Given the description of an element on the screen output the (x, y) to click on. 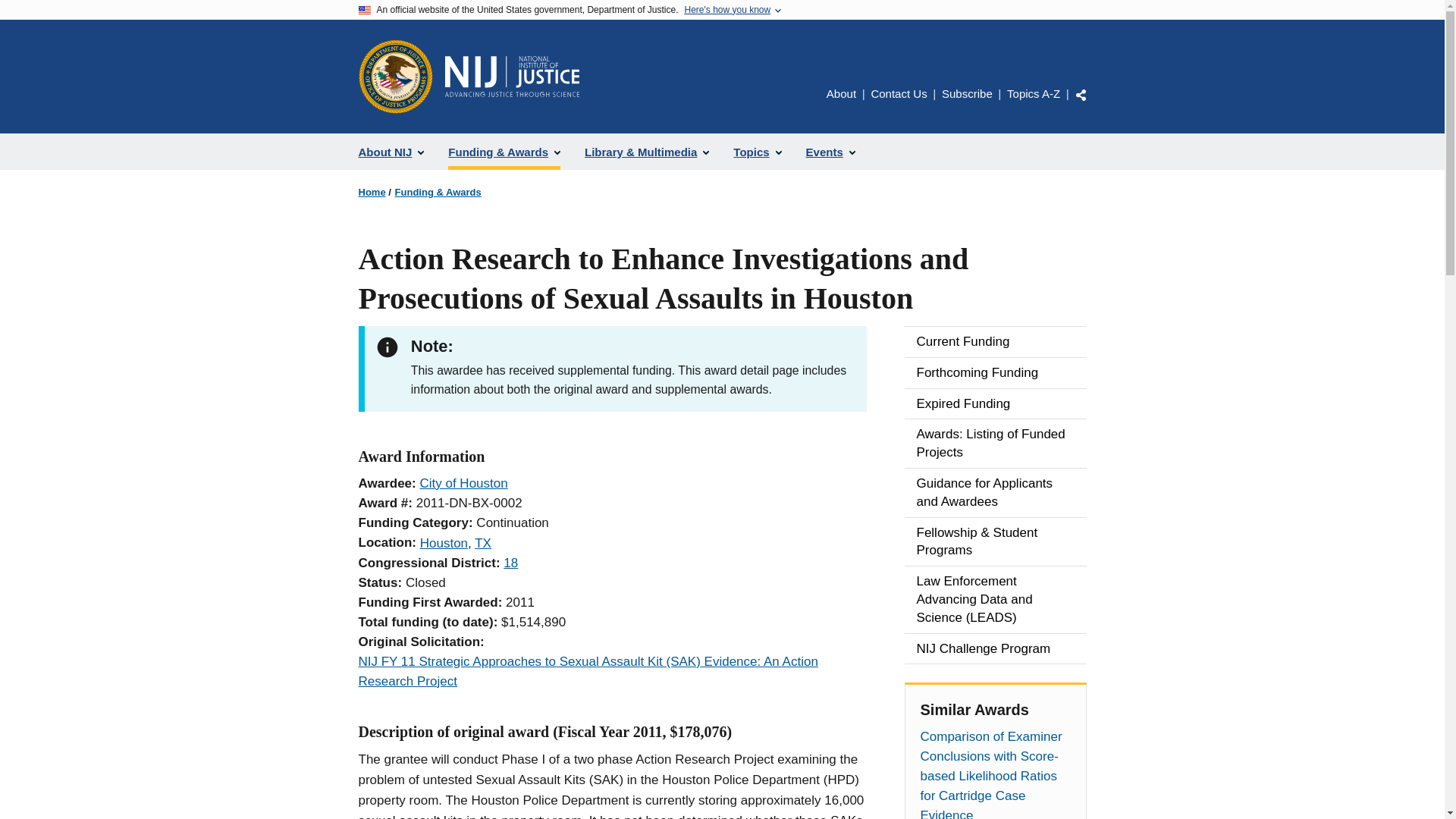
About NIJ (390, 151)
Office of Justice Programs (395, 76)
Here's how you know (727, 9)
Subscribe (967, 93)
Choose a social sharing platform (1080, 94)
18 (510, 563)
Home (511, 76)
Events (830, 151)
Share (1080, 94)
